Given the description of an element on the screen output the (x, y) to click on. 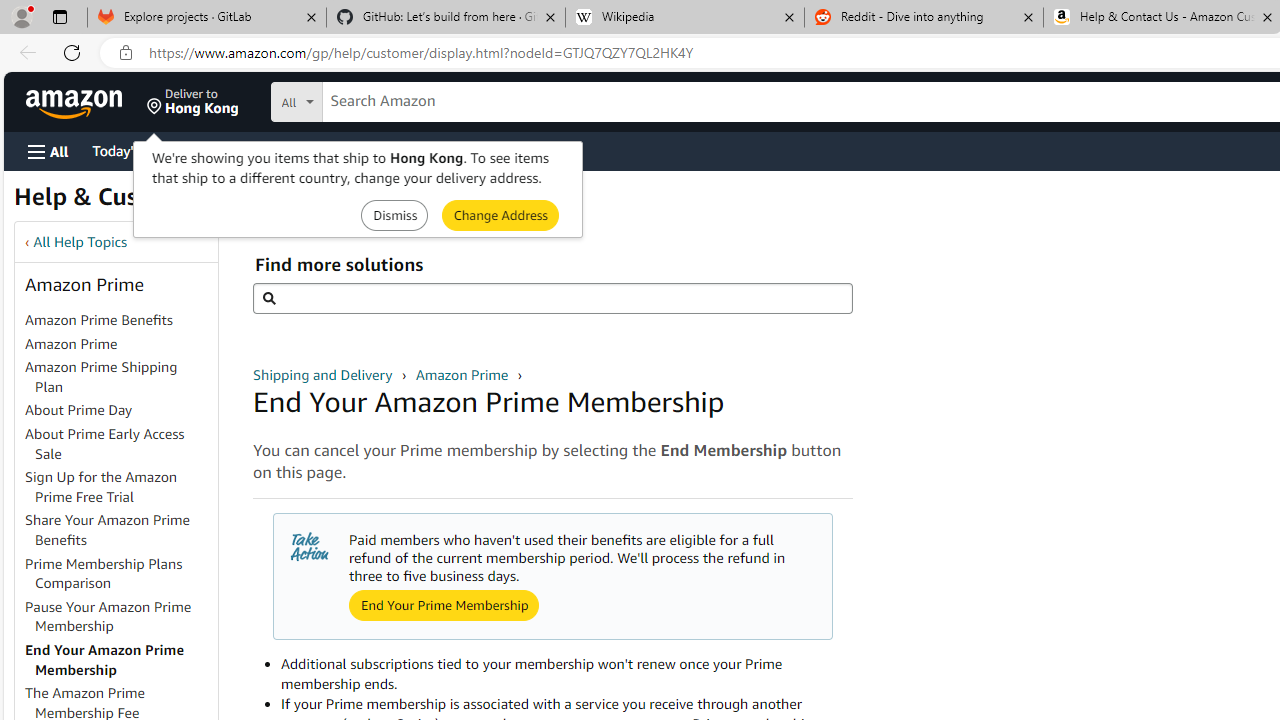
Sign Up for the Amazon Prime Free Trial (120, 488)
Amazon Prime Benefits (98, 320)
Share Your Amazon Prime Benefits (107, 529)
Shipping and Delivery  (324, 374)
End Your Prime Membership (444, 604)
Amazon Prime Shipping Plan (120, 377)
Find more solutions (552, 297)
Wikipedia (684, 17)
Share Your Amazon Prime Benefits (120, 530)
Deliver to Hong Kong (193, 101)
All Help Topics (80, 242)
Skip to main content (86, 100)
About Prime Early Access Sale (120, 444)
